Given the description of an element on the screen output the (x, y) to click on. 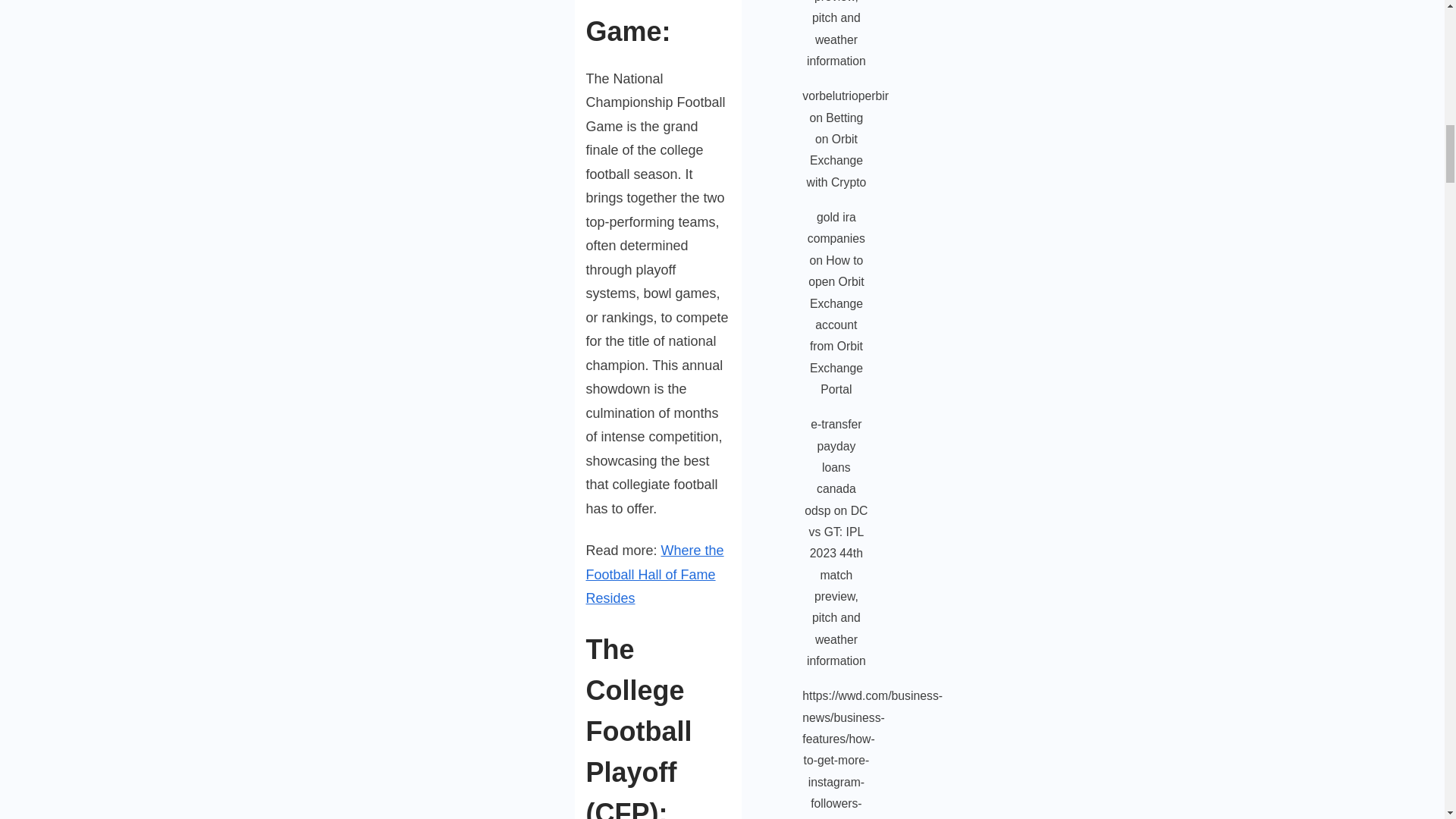
Where the Football Hall of Fame Resides (654, 574)
